Given the description of an element on the screen output the (x, y) to click on. 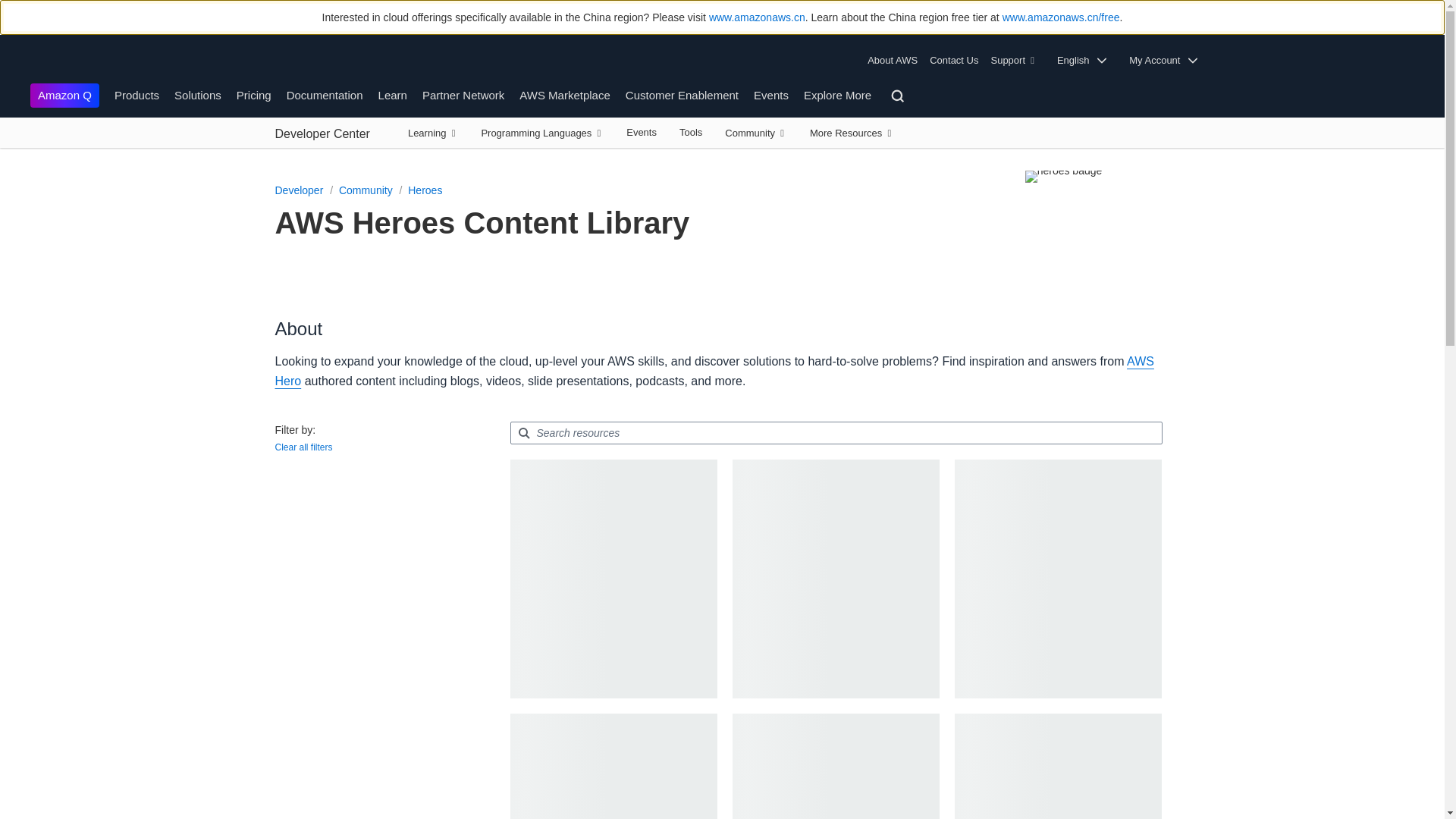
Explore More (836, 94)
Support  (1016, 60)
Partner Network (462, 94)
Customer Enablement (682, 94)
My Account   (1168, 60)
Amazon Q (64, 95)
Learn (392, 94)
Events (771, 94)
Documentation (324, 94)
www.amazonaws.cn (757, 17)
Skip to main content (7, 154)
heroes badge (1063, 176)
English   (1086, 60)
Pricing (252, 94)
Products (136, 94)
